Given the description of an element on the screen output the (x, y) to click on. 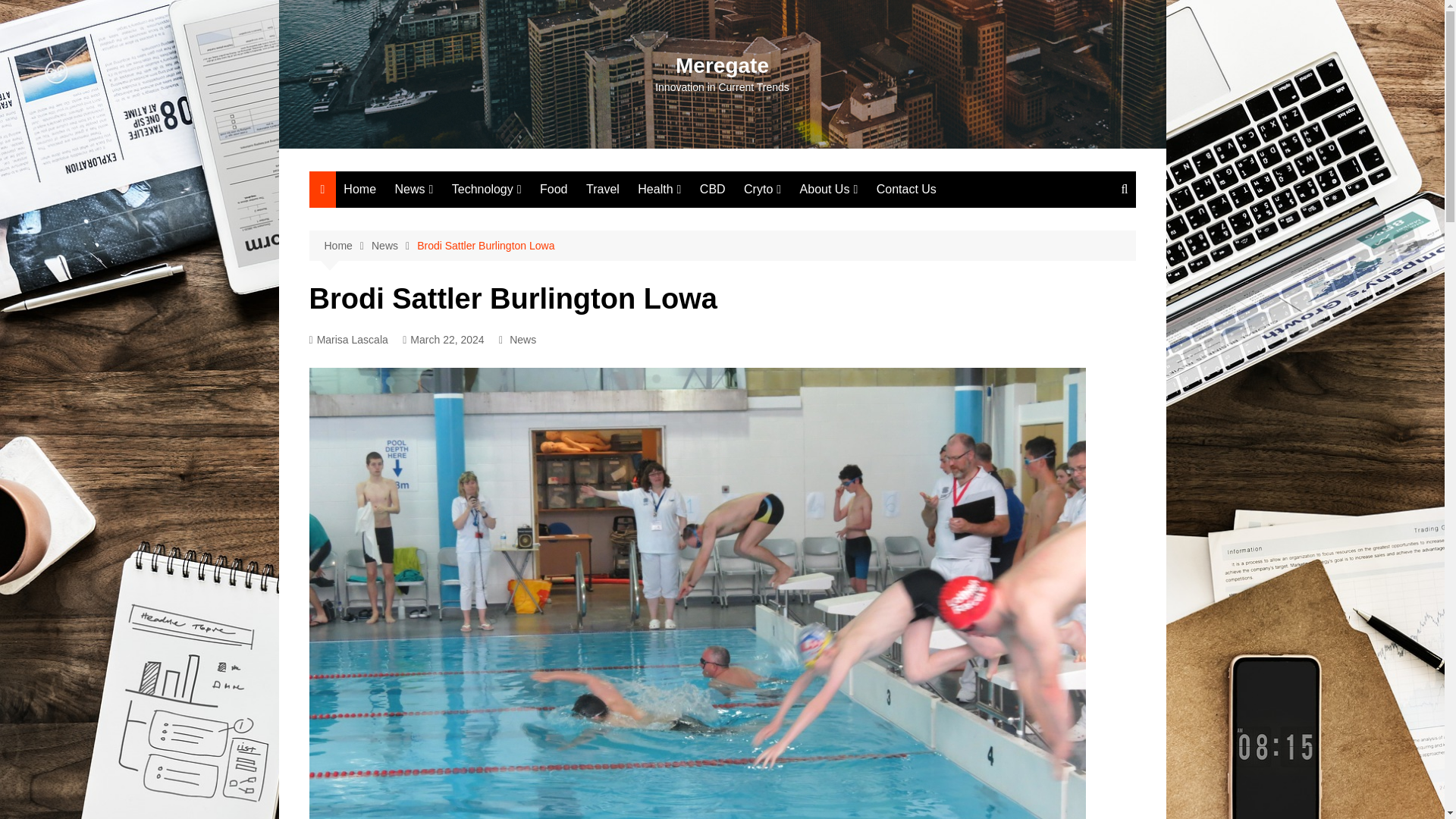
Art (470, 269)
Home (360, 189)
Gadgets (527, 294)
Dog-Advice (636, 370)
Social Media (527, 244)
Law (470, 471)
Cat-Advice (636, 395)
Baby (470, 344)
Sports (470, 319)
Meregate (721, 65)
